Given the description of an element on the screen output the (x, y) to click on. 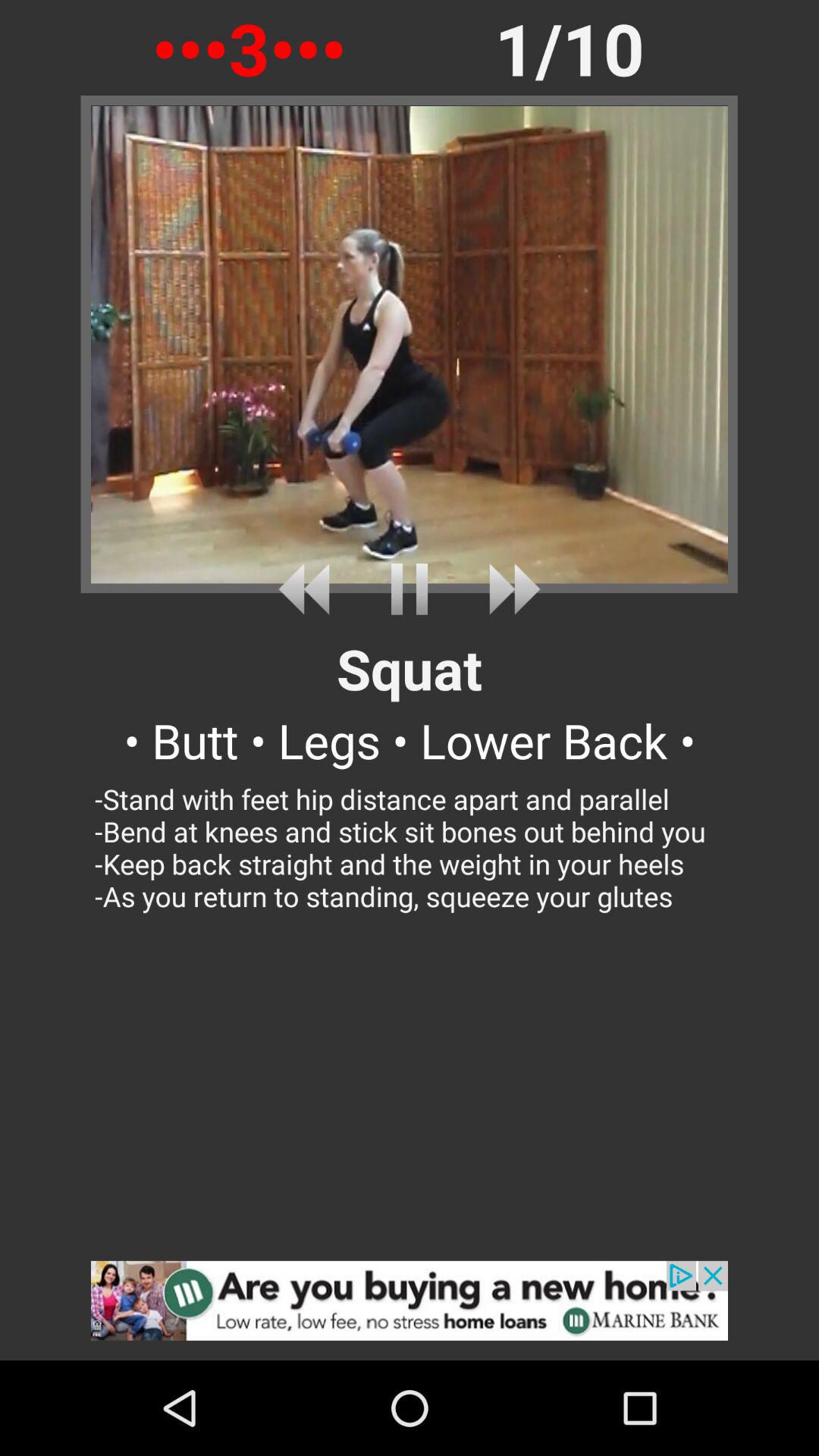
pause (409, 589)
